Given the description of an element on the screen output the (x, y) to click on. 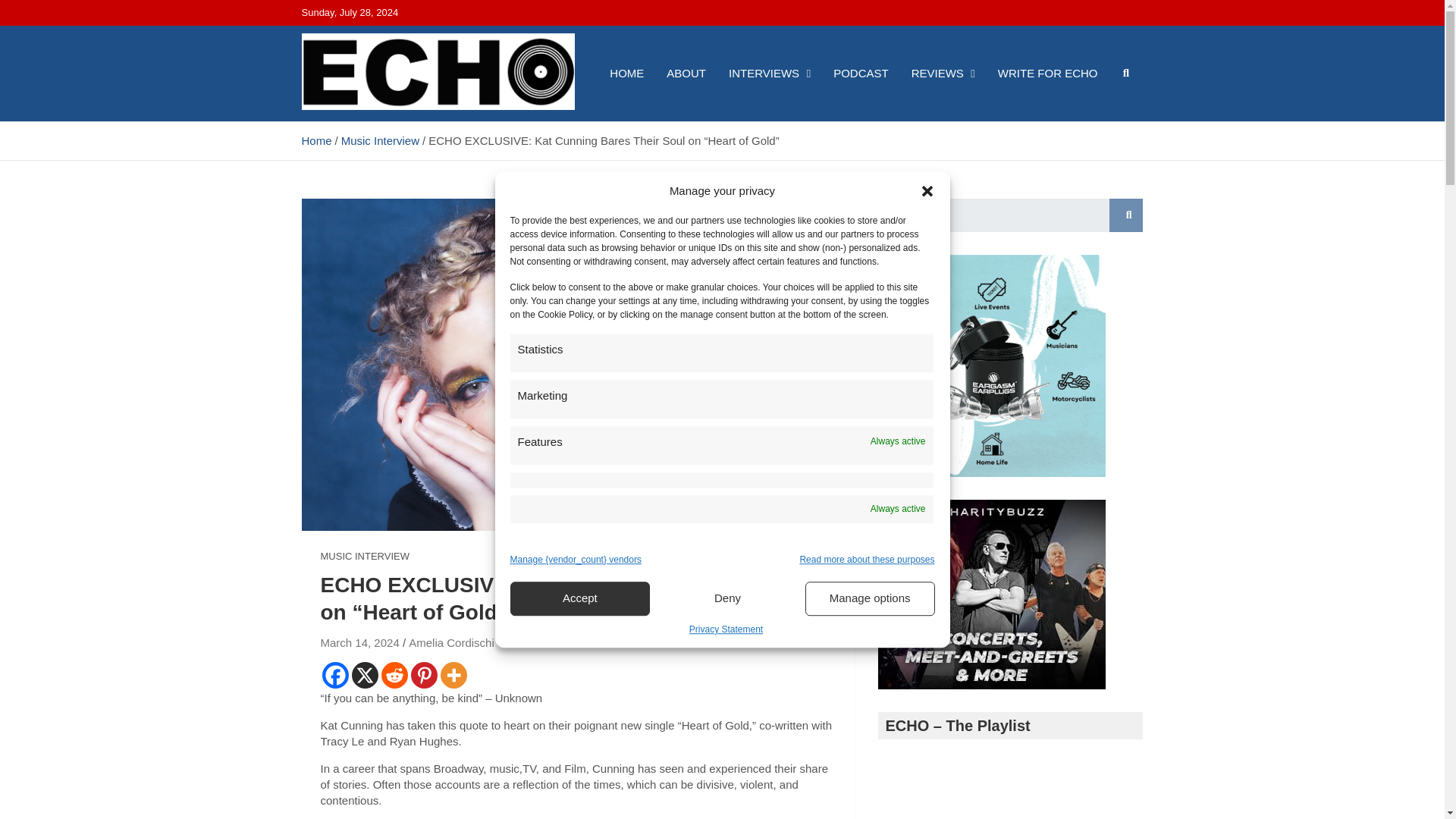
Read more about these purposes (866, 559)
PODCAST (860, 72)
REVIEWS (943, 72)
Pinterest (424, 674)
Privacy Statement (725, 629)
HOME (626, 72)
ECHO (345, 133)
X (365, 674)
Manage options (869, 598)
ABOUT (686, 72)
Facebook (334, 674)
Accept (579, 598)
Deny (727, 598)
Reddit (393, 674)
More (452, 674)
